Given the description of an element on the screen output the (x, y) to click on. 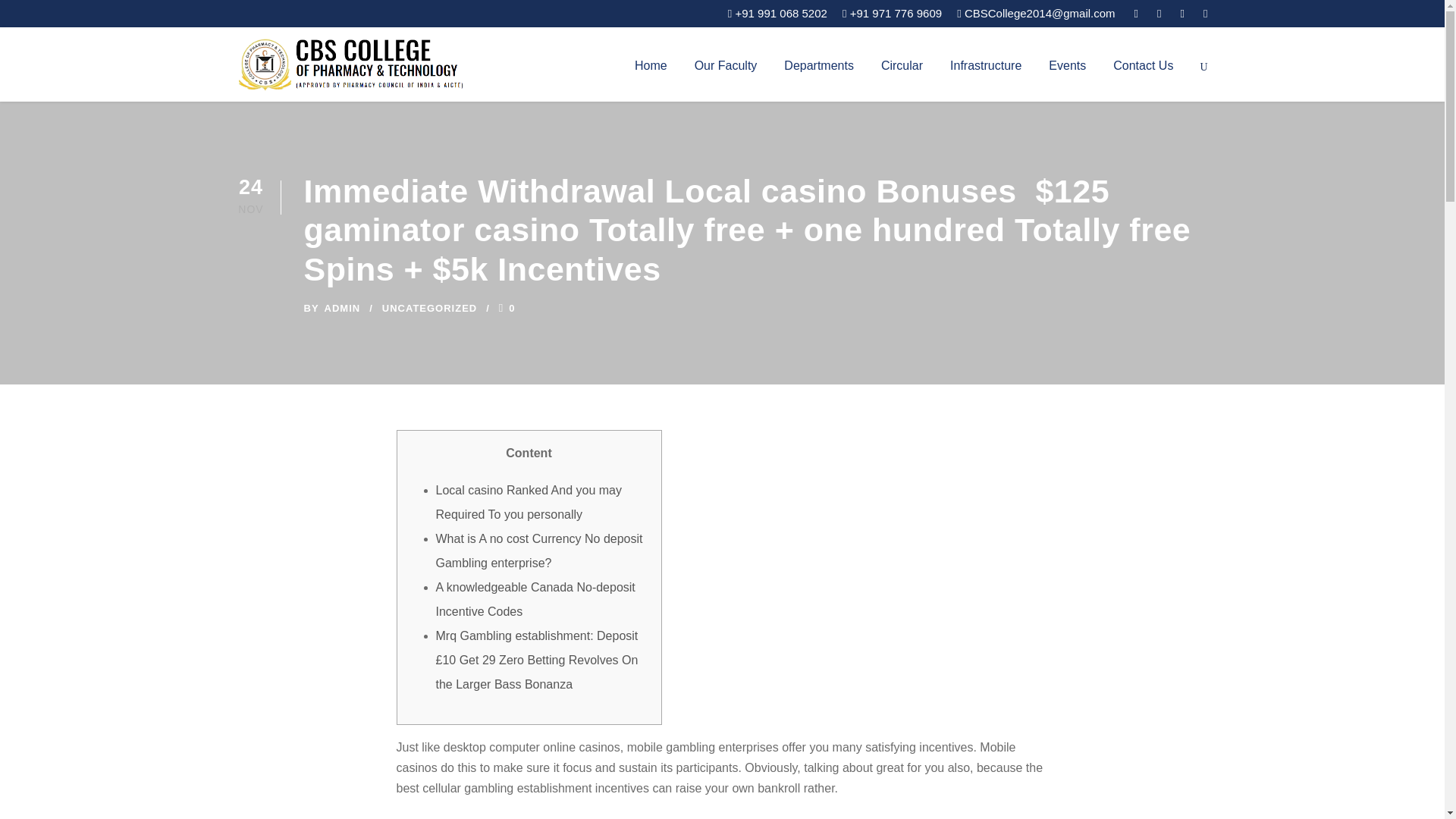
What is A no cost Currency No deposit Gambling enterprise? (538, 550)
Circular (901, 77)
Contact Us (1143, 77)
ADMIN (342, 307)
Departments (818, 77)
Posts by admin (342, 307)
A knowledgeable Canada No-deposit Incentive Codes (534, 599)
Infrastructure (986, 77)
UNCATEGORIZED (429, 307)
Our Faculty (725, 77)
